Given the description of an element on the screen output the (x, y) to click on. 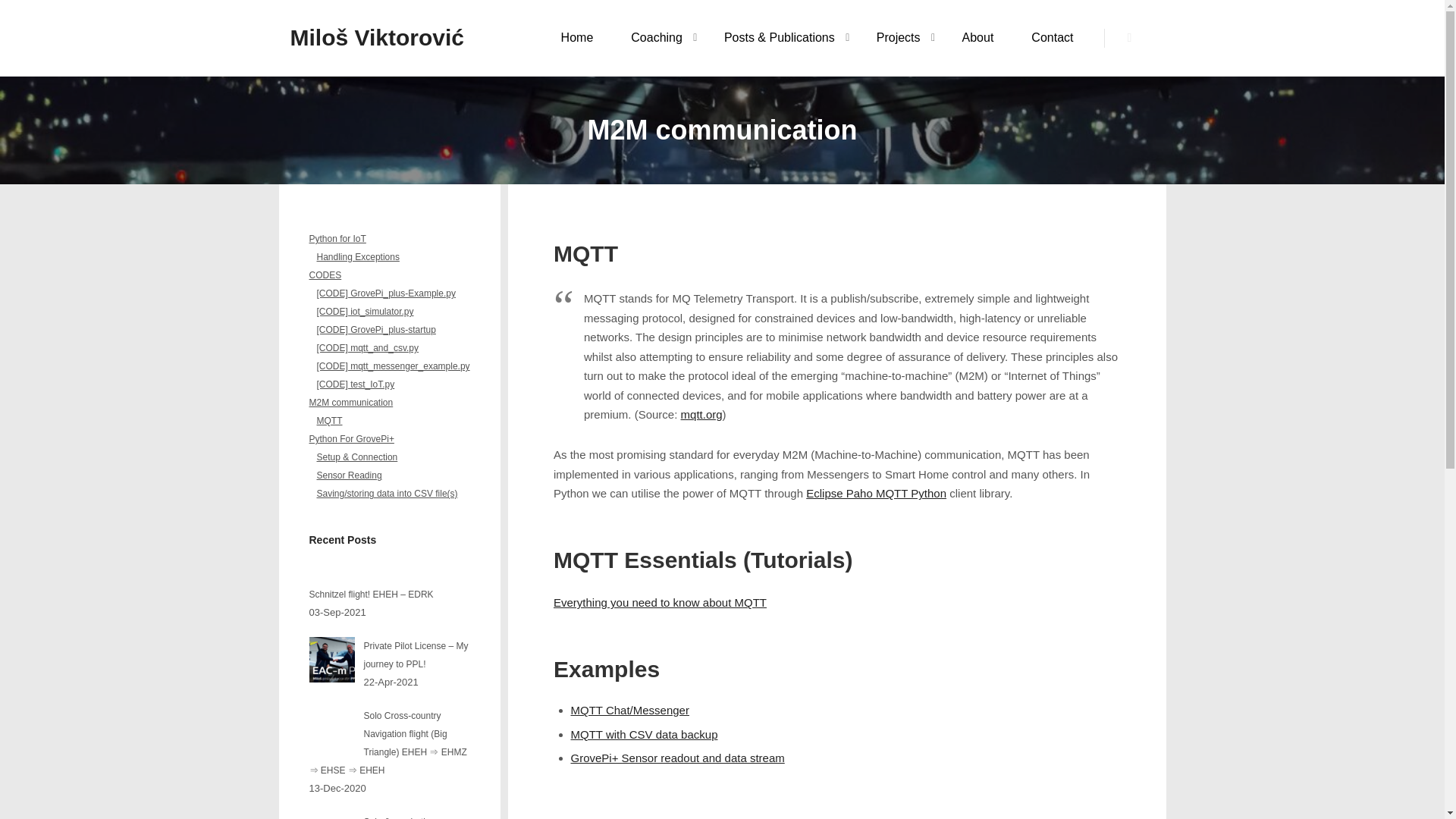
Coaching (648, 38)
Eclipse Paho MQTT Python (876, 492)
About (978, 38)
Sensor Reading (389, 475)
Contact (1051, 38)
CODES (389, 275)
mqtt.org (701, 413)
M2M communication (389, 402)
Handling Exceptions (389, 257)
Home (576, 38)
More info (1129, 37)
Python for IoT (389, 239)
MQTT with CSV data backup (643, 734)
Everything you need to know about MQTT (660, 602)
More info (1129, 37)
